Given the description of an element on the screen output the (x, y) to click on. 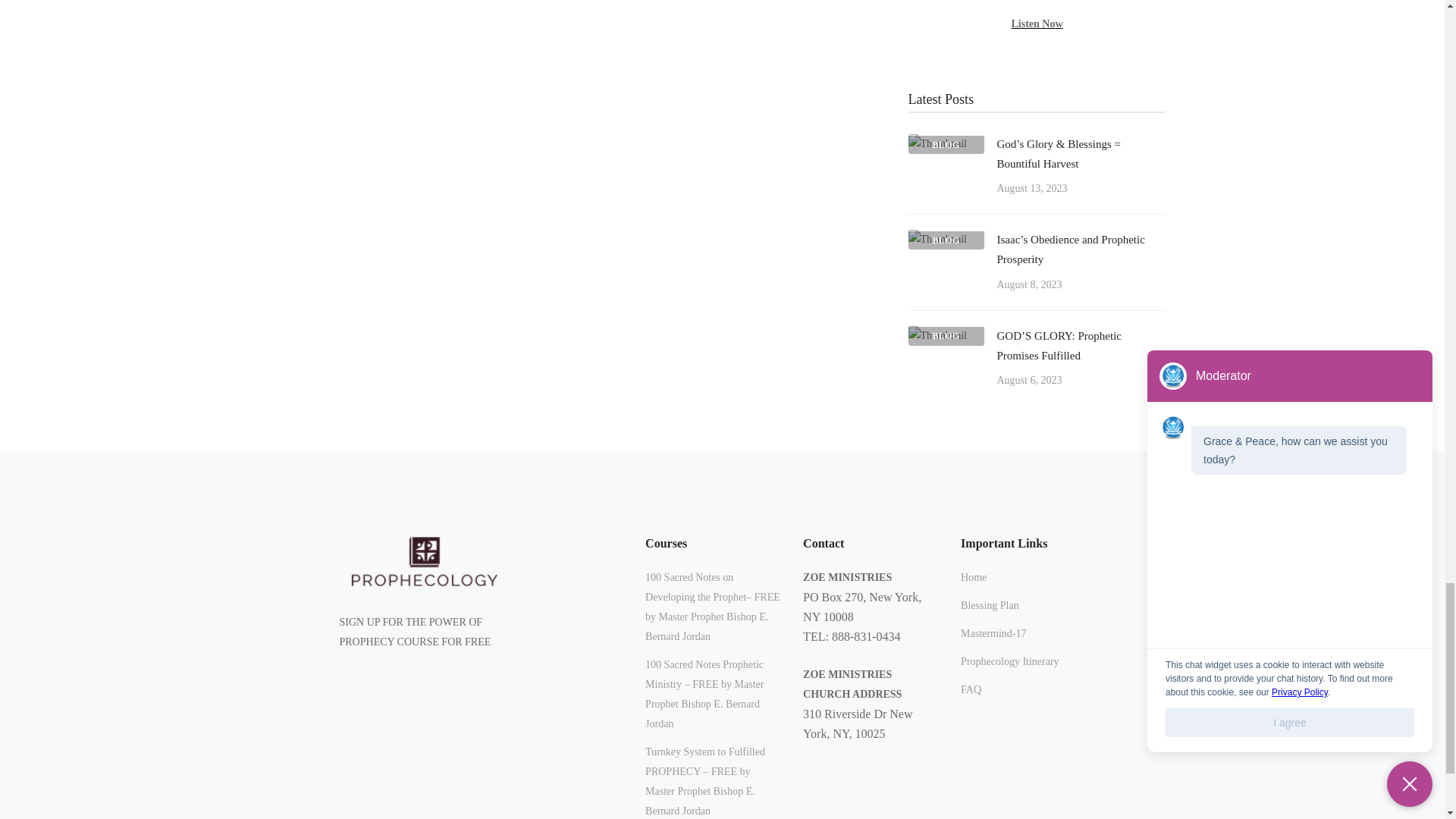
Home (973, 578)
BLOG (937, 143)
Prophecology Itinerary (1009, 661)
BLOG (937, 335)
Listen Now (1036, 23)
FAQ (970, 690)
BLOG (937, 238)
Blessing Plan (989, 605)
Mastermind-17 (993, 633)
